Given the description of an element on the screen output the (x, y) to click on. 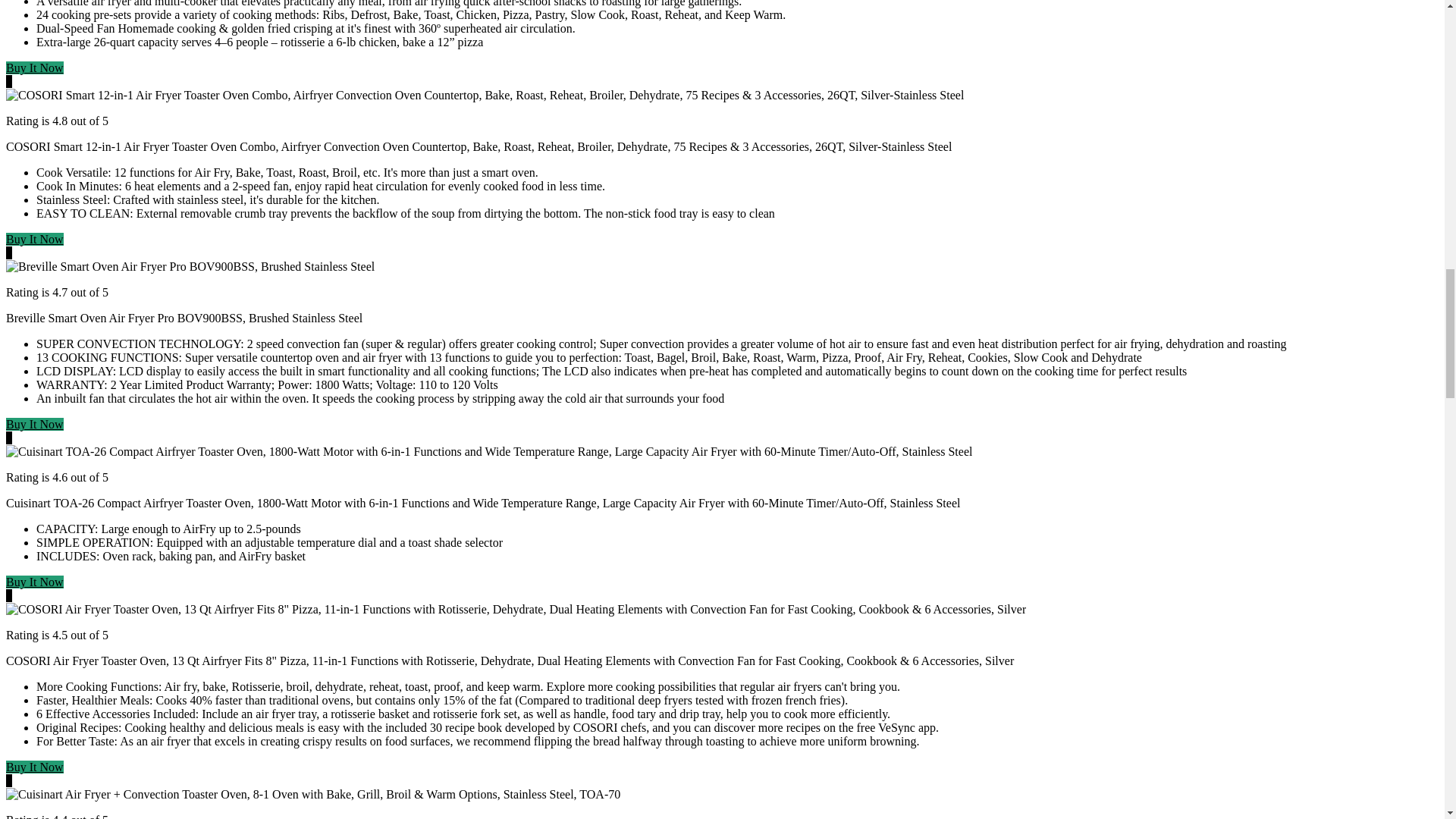
Buy It Now (34, 766)
Buy It Now (34, 238)
Buy It Now (34, 67)
Buy It Now (34, 581)
Buy It Now (34, 423)
